Given the description of an element on the screen output the (x, y) to click on. 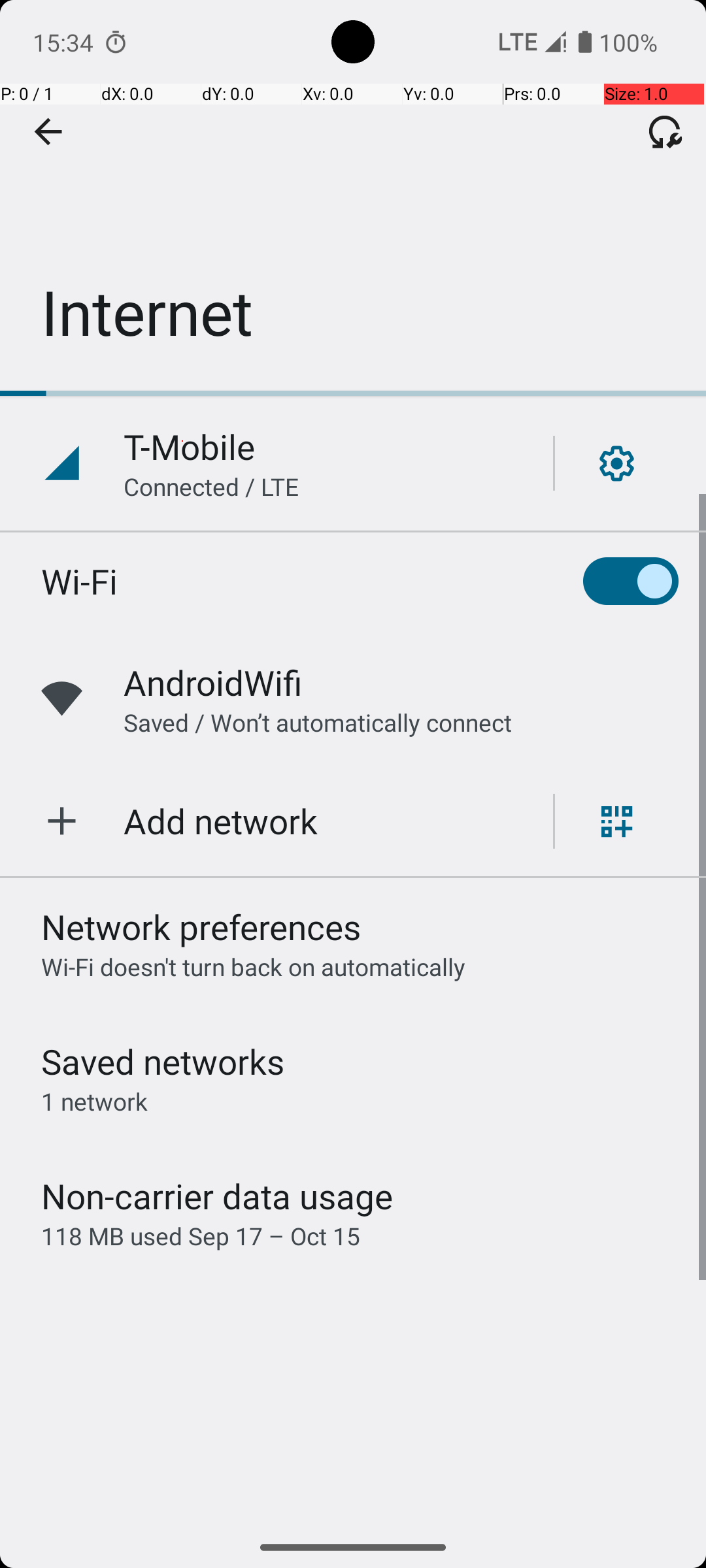
Fix connectivity Element type: android.widget.TextView (664, 131)
AndroidWifi,Saved / Won’t automatically connect,Wifi signal full.,Open network Element type: android.widget.LinearLayout (353, 698)
Connected / LTE Element type: android.widget.TextView (211, 486)
Wi-Fi Element type: android.widget.TextView (79, 580)
AndroidWifi Element type: android.widget.TextView (212, 682)
Saved / Won’t automatically connect Element type: android.widget.TextView (317, 721)
Add network Element type: android.widget.TextView (220, 820)
Scan QR code Element type: android.widget.ImageButton (616, 821)
Network preferences Element type: android.widget.TextView (201, 926)
Wi‑Fi doesn't turn back on automatically Element type: android.widget.TextView (253, 966)
Saved networks Element type: android.widget.TextView (163, 1061)
1 network Element type: android.widget.TextView (94, 1100)
Non-carrier data usage Element type: android.widget.TextView (216, 1195)
118 MB used Sep 17 – Oct 15 Element type: android.widget.TextView (200, 1235)
